Given the description of an element on the screen output the (x, y) to click on. 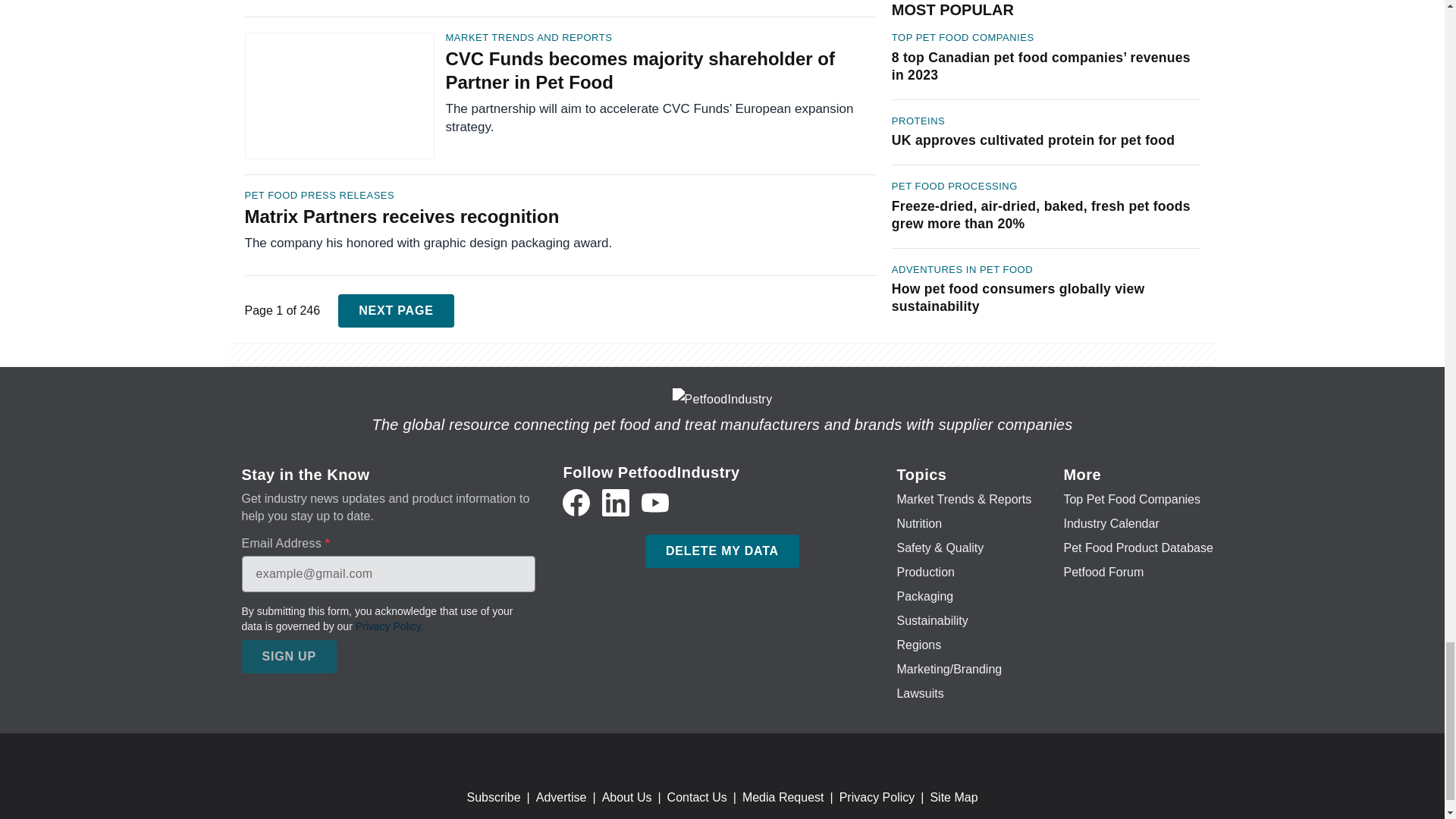
YouTube icon (655, 502)
LinkedIn icon (615, 502)
Facebook icon (575, 502)
